Given the description of an element on the screen output the (x, y) to click on. 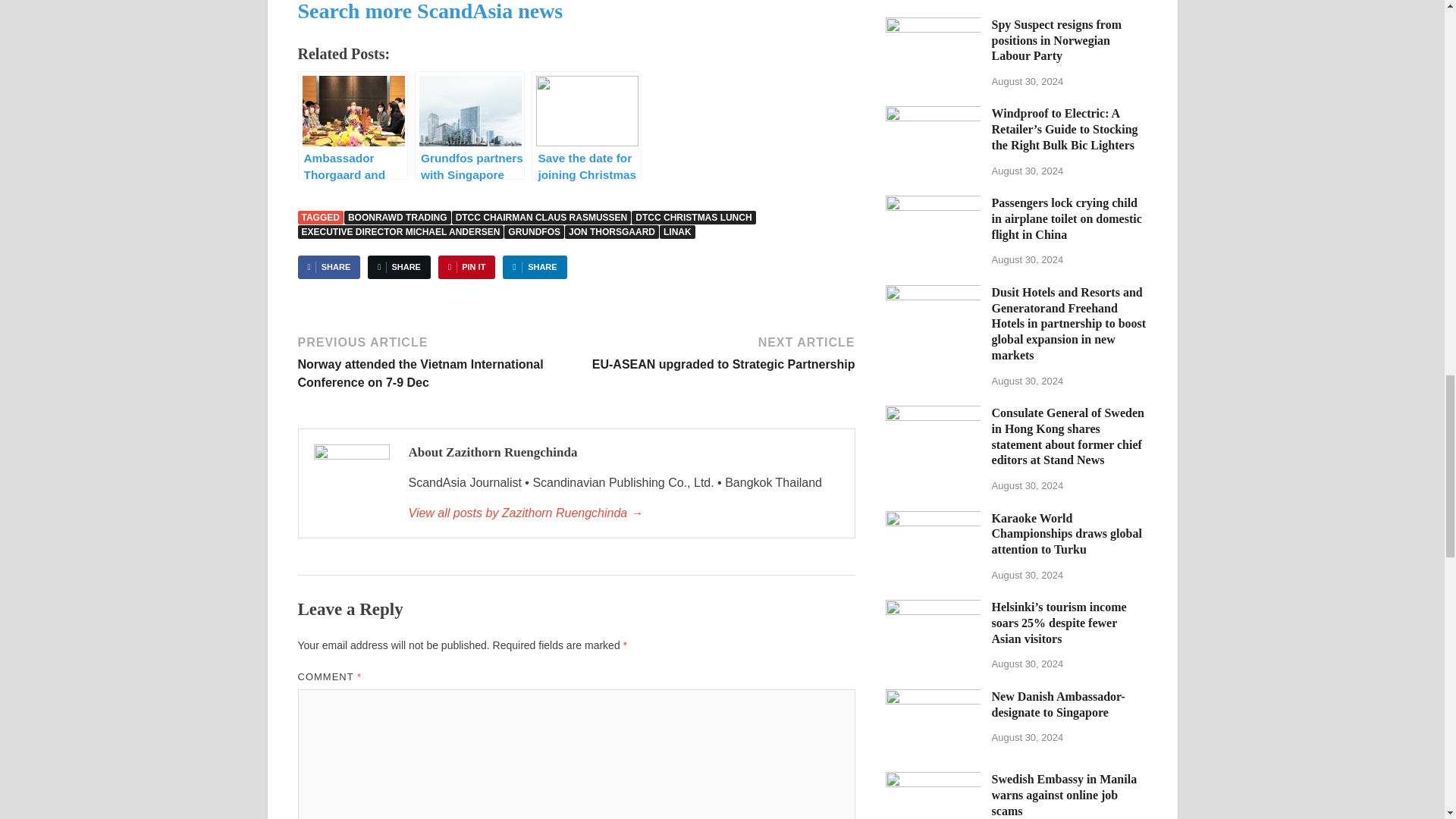
Spy Suspect resigns from positions in Norwegian Labour Party (932, 25)
Zazithorn Ruengchinda (622, 513)
Ambassador Thorgaard and Grundfos team visited Koh Samui (352, 125)
Swedish Embassy in Manila warns against online job scams (932, 780)
New Danish Ambassador-designate to Singapore (932, 697)
Karaoke World Championships draws global attention to Turku (932, 519)
